Given the description of an element on the screen output the (x, y) to click on. 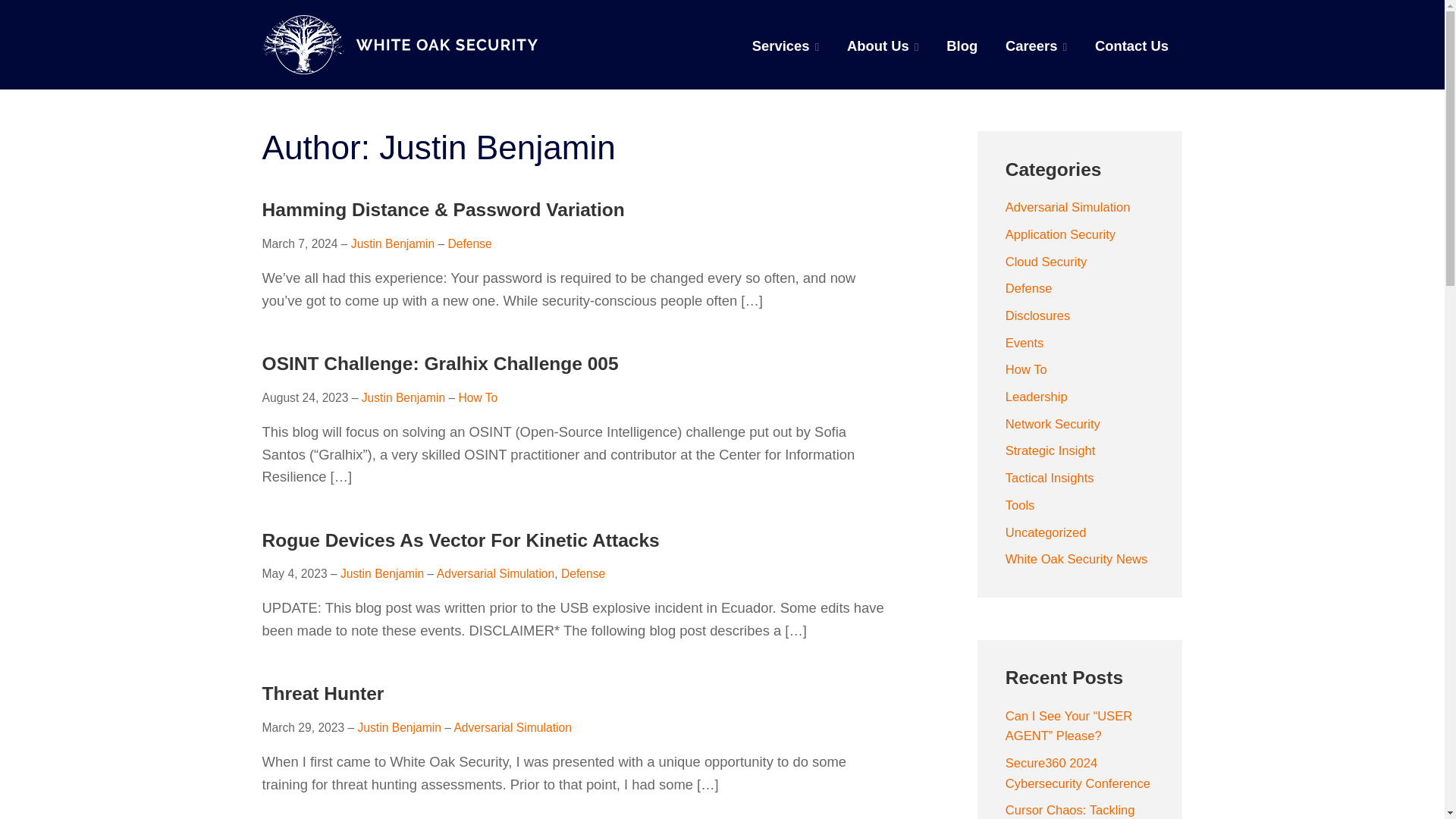
Careers (1036, 45)
About Us (882, 45)
Blog (962, 45)
Services (785, 45)
Navigate to the White Oak Security website home page (399, 44)
